Given the description of an element on the screen output the (x, y) to click on. 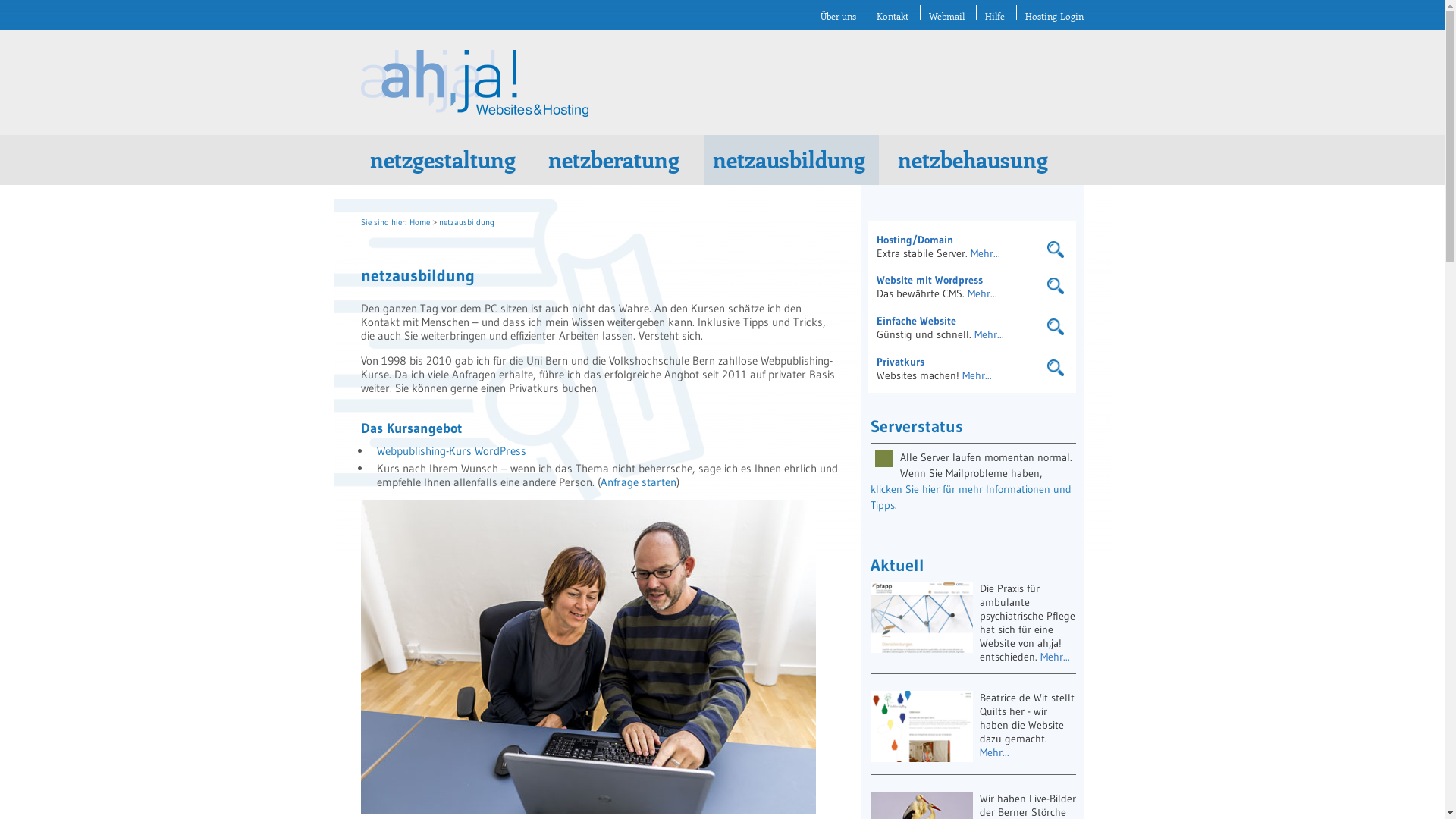
Mehr... Element type: text (976, 375)
Home Element type: text (419, 221)
netzberatung Element type: text (616, 159)
Mehr... Element type: text (994, 752)
Mehr... Element type: text (982, 293)
Hilfe Element type: text (994, 14)
Mehr... Element type: text (1055, 656)
Mehr... Element type: text (985, 253)
ah,ja! Websites & Hosting Bern Element type: hover (474, 113)
netzgestaltung Element type: text (444, 159)
netzbehausung Element type: text (974, 159)
Anfrage starten Element type: text (638, 481)
Webmail Element type: text (946, 14)
Mehr... Element type: text (989, 334)
Webpublishing-Kurs WordPress Element type: text (451, 450)
Kontakt Element type: text (892, 14)
netzausbildung Element type: text (790, 159)
Hosting-Login Element type: text (1054, 14)
